Given the description of an element on the screen output the (x, y) to click on. 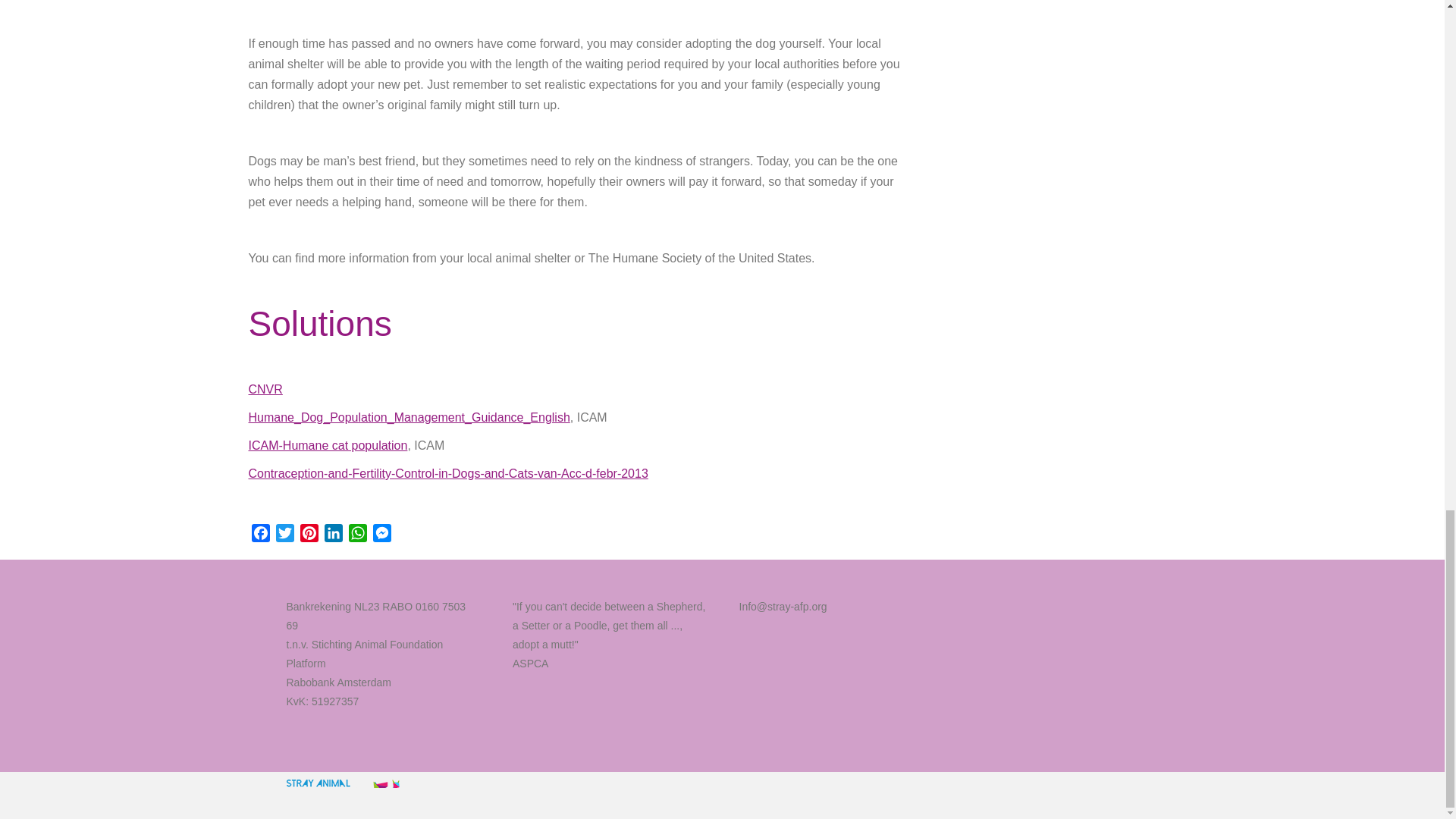
WhatsApp (357, 535)
CNVR (265, 389)
Pinterest (309, 535)
LinkedIn (333, 535)
LinkedIn (333, 535)
ICAM-Humane cat population (327, 445)
Messenger (381, 535)
WhatsApp (357, 535)
CNV (265, 389)
